Given the description of an element on the screen output the (x, y) to click on. 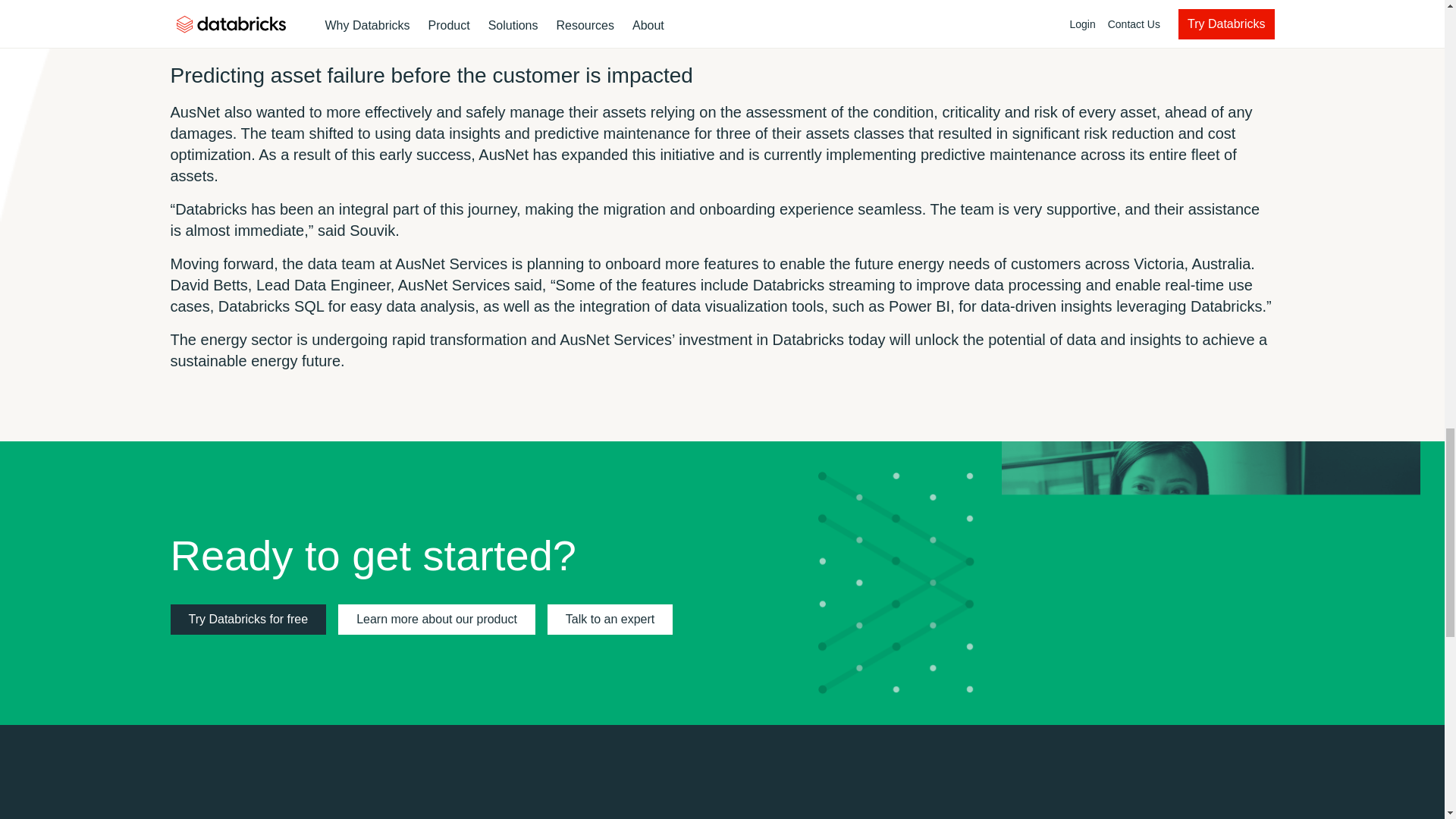
Learn more about our product (436, 619)
Try Databricks for free (248, 619)
Talk to an expert (609, 619)
